Given the description of an element on the screen output the (x, y) to click on. 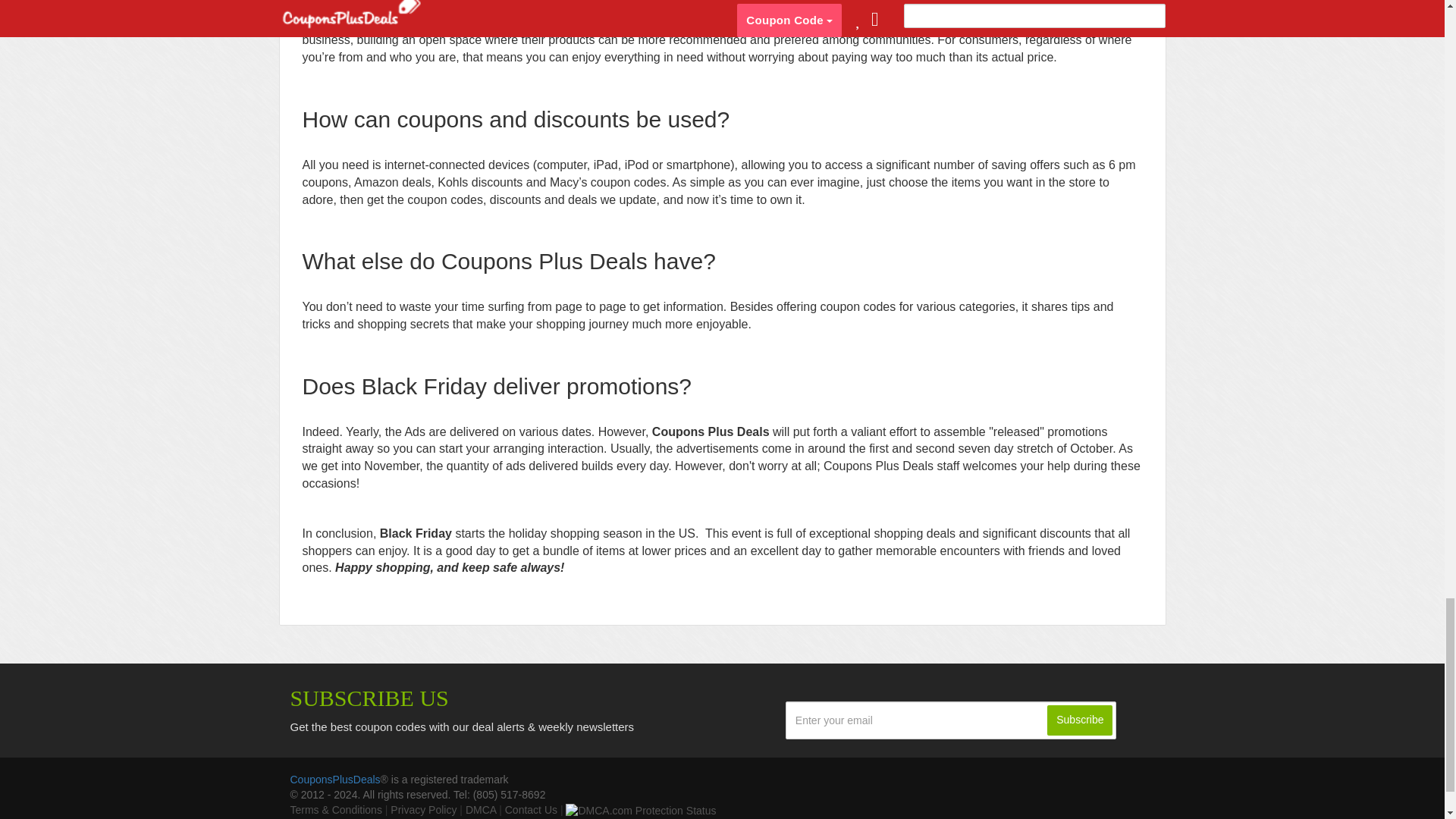
Contact Us (531, 809)
Subscribe (1079, 720)
Coupons Plus Deals (893, 22)
DMCA (480, 809)
DMCA.com Protection Status (641, 809)
Contact Us (531, 809)
DMCA (480, 809)
Privacy Policy (423, 809)
CouponsPlusDeals (334, 779)
Privacy Policy (423, 809)
